Given the description of an element on the screen output the (x, y) to click on. 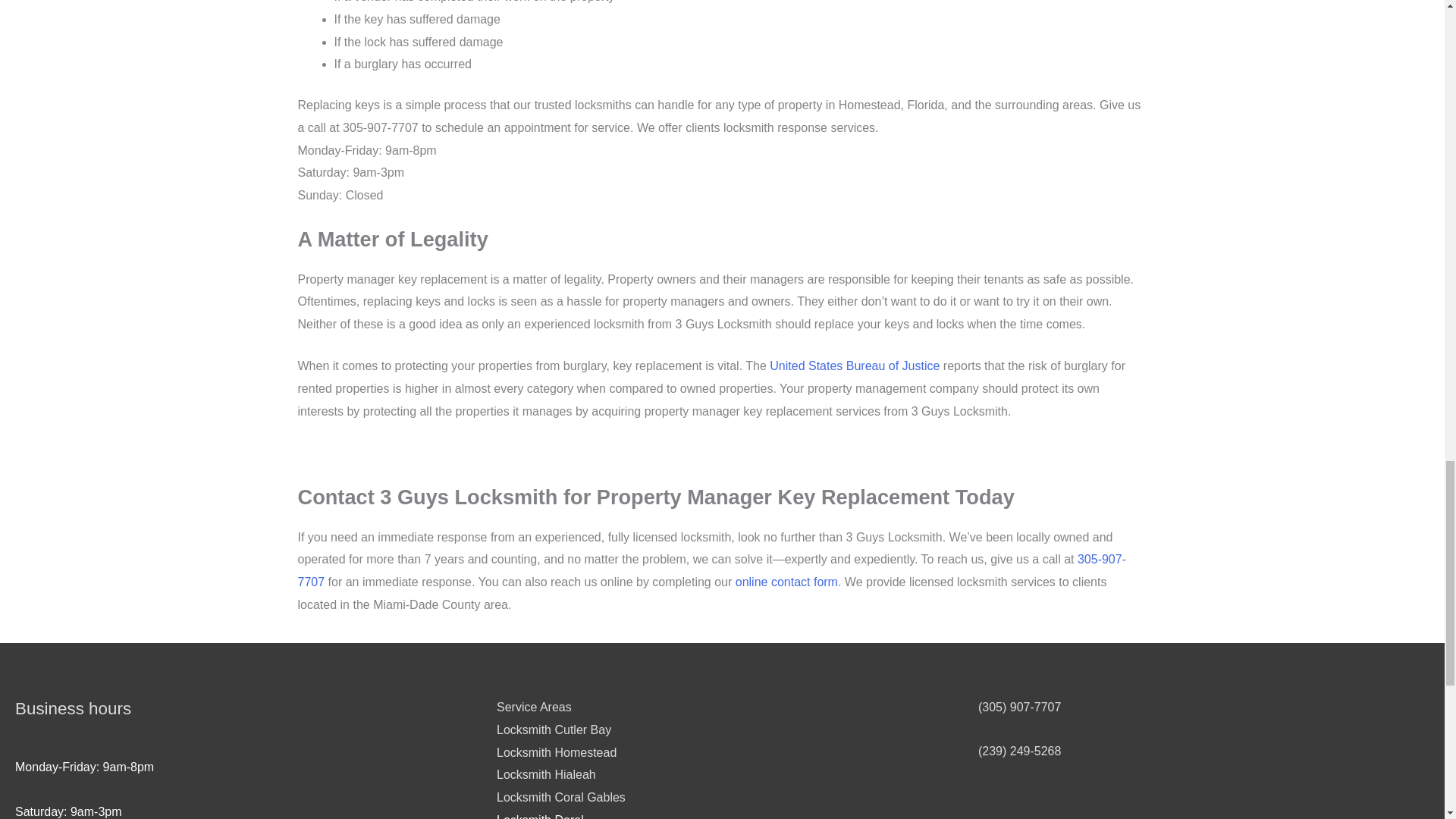
Service Areas (534, 707)
Locksmith Cutler Bay (553, 729)
Locksmith Coral Gables (561, 797)
Locksmith Hialeah (545, 774)
Locksmith Homestead (555, 752)
online contact form (786, 581)
305-907-7707 (711, 570)
United States Bureau of Justice (854, 365)
